Given the description of an element on the screen output the (x, y) to click on. 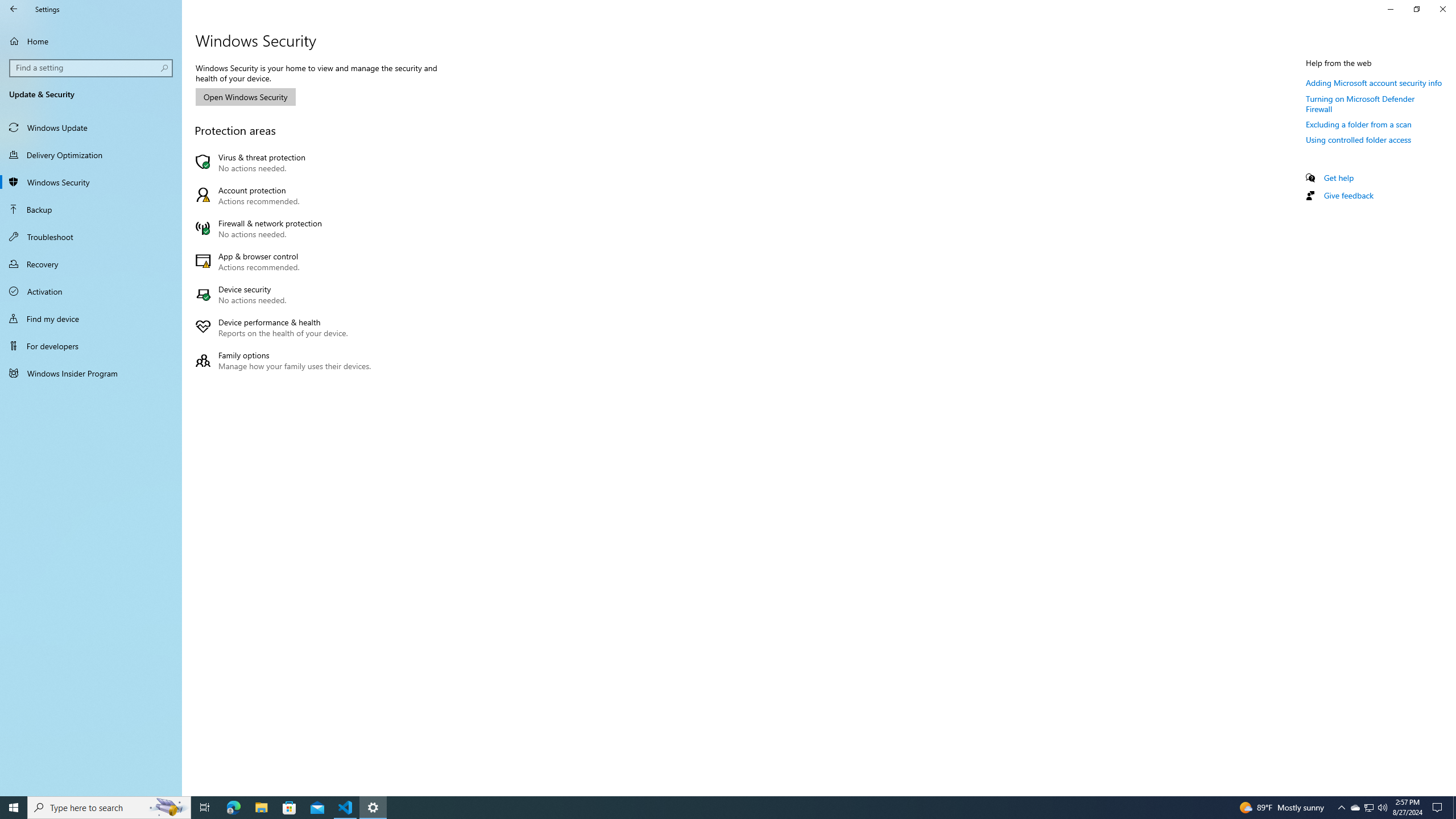
For developers (91, 345)
Virus & threat protection No actions needed. (285, 162)
Windows Security (91, 181)
Firewall & network protection No actions needed. (285, 228)
Account protection Actions recommended. (285, 195)
Using controlled folder access (1359, 139)
Recovery (91, 263)
Activation (91, 290)
Troubleshoot (91, 236)
